Given the description of an element on the screen output the (x, y) to click on. 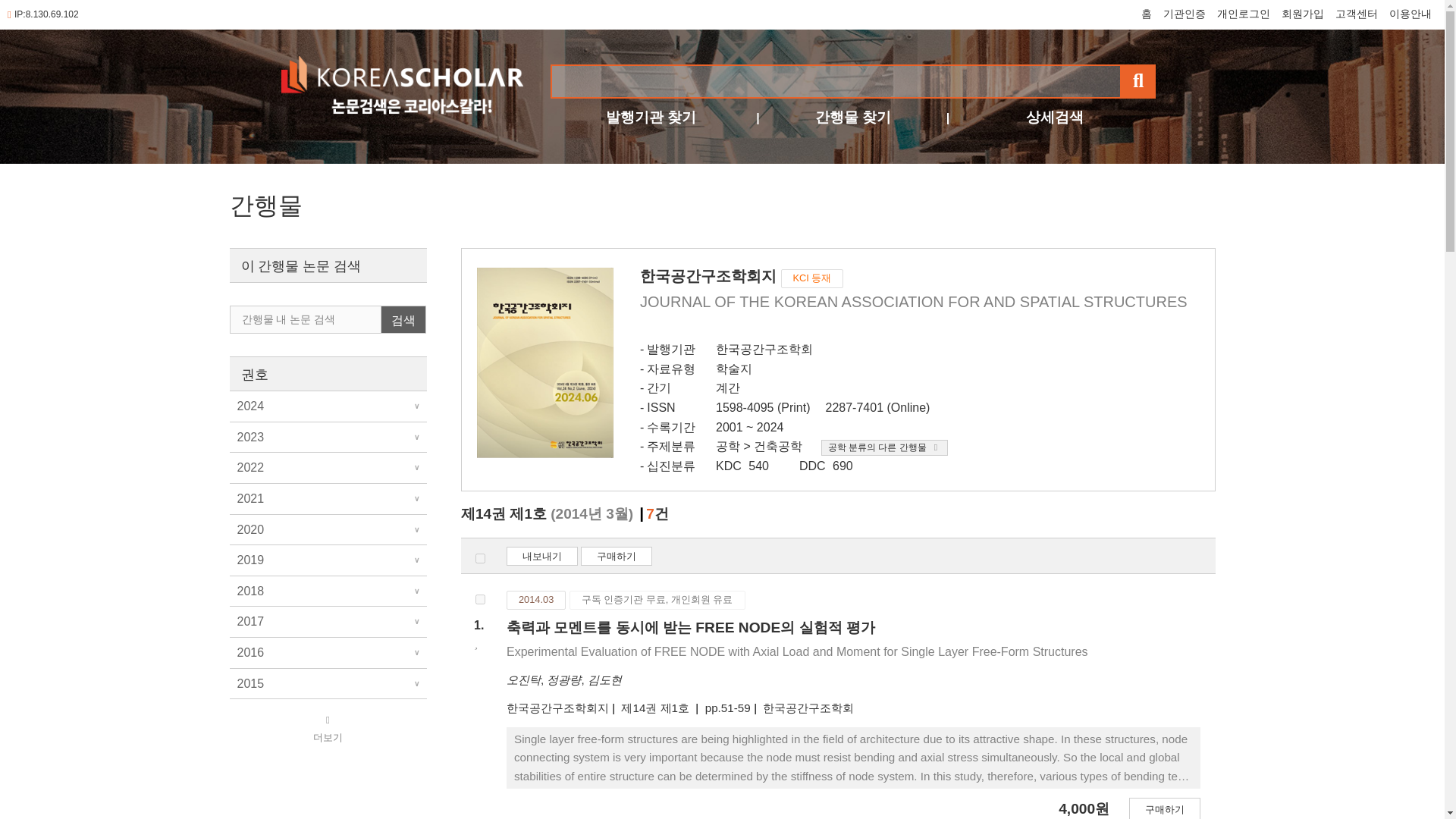
2023 (327, 437)
281652 (480, 599)
on (480, 558)
2024 (327, 406)
2022 (327, 467)
